Given the description of an element on the screen output the (x, y) to click on. 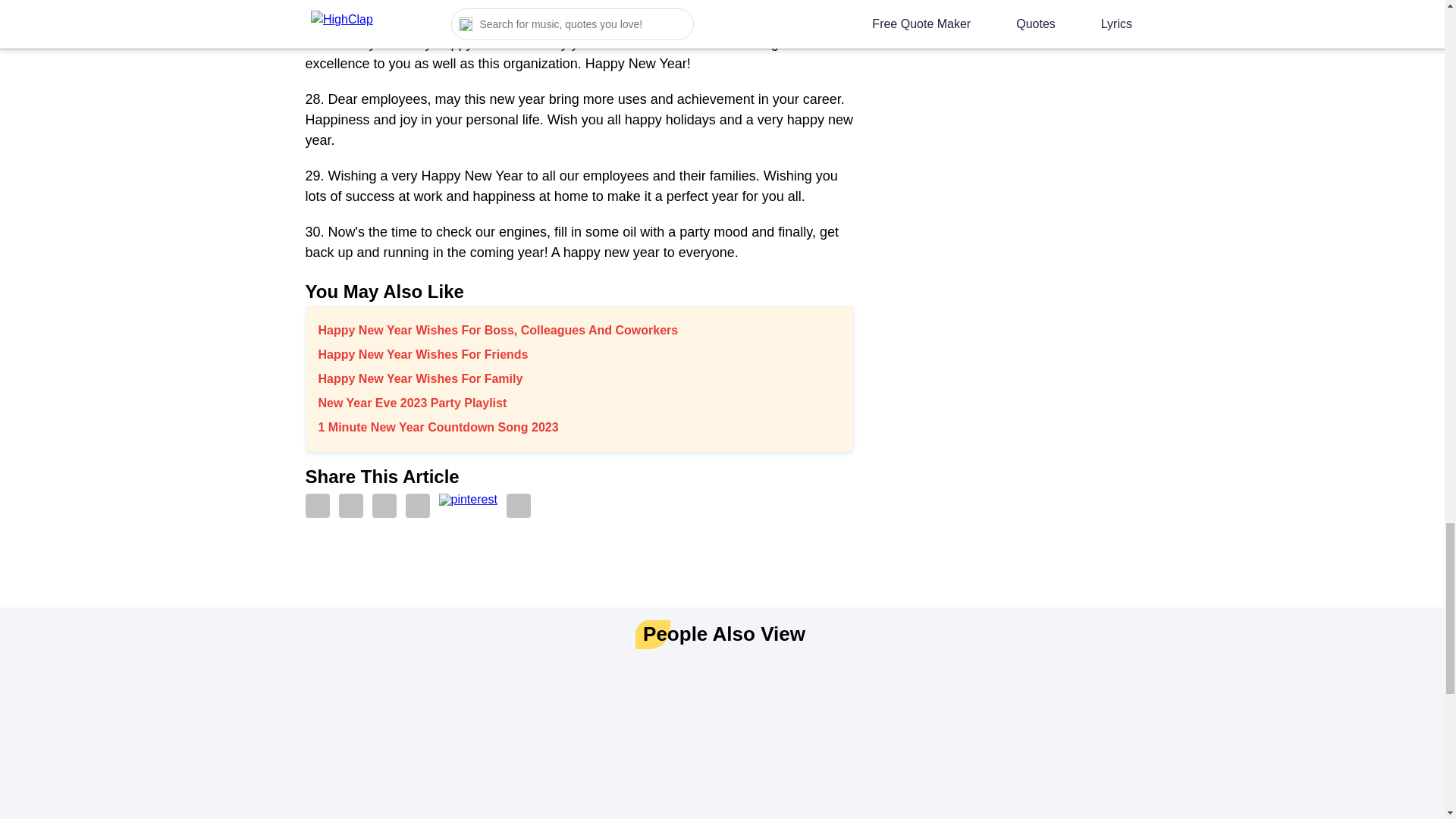
1 Minute New Year Countdown Song 2023 (579, 427)
Happy New Year Wishes For Boss, Colleagues And Coworkers (579, 330)
Happy New Year Wishes For Family (579, 378)
Happy New Year Wishes For Boss, Colleagues And Coworkers (579, 330)
Happy New Year Wishes For Friends (579, 354)
New Year Eve 2023 Party Playlist (579, 403)
